Given the description of an element on the screen output the (x, y) to click on. 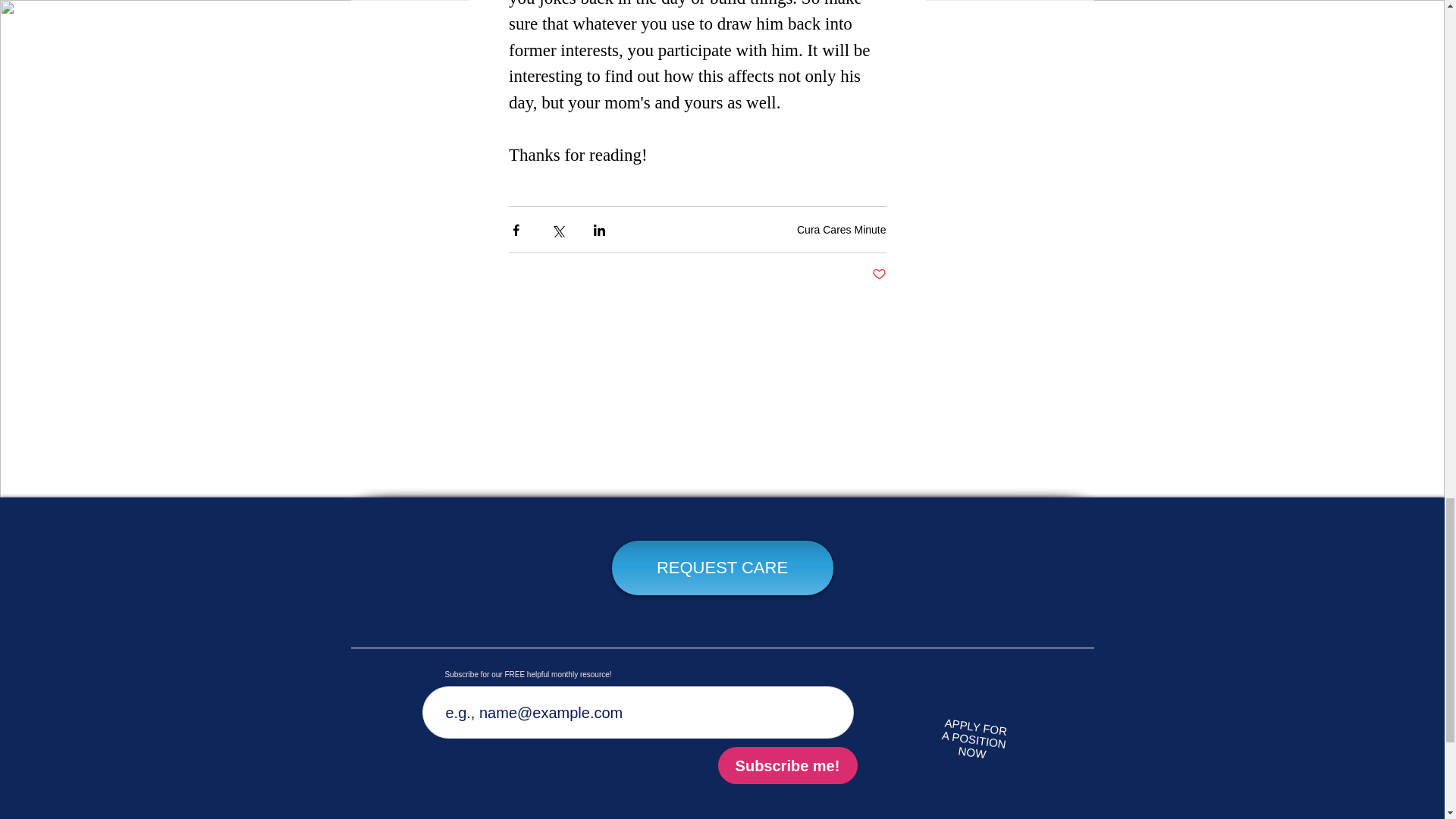
Cura Cares Minute (841, 229)
Post not marked as liked (879, 274)
REQUEST CARE (721, 567)
Subscribe me! (973, 735)
